Given the description of an element on the screen output the (x, y) to click on. 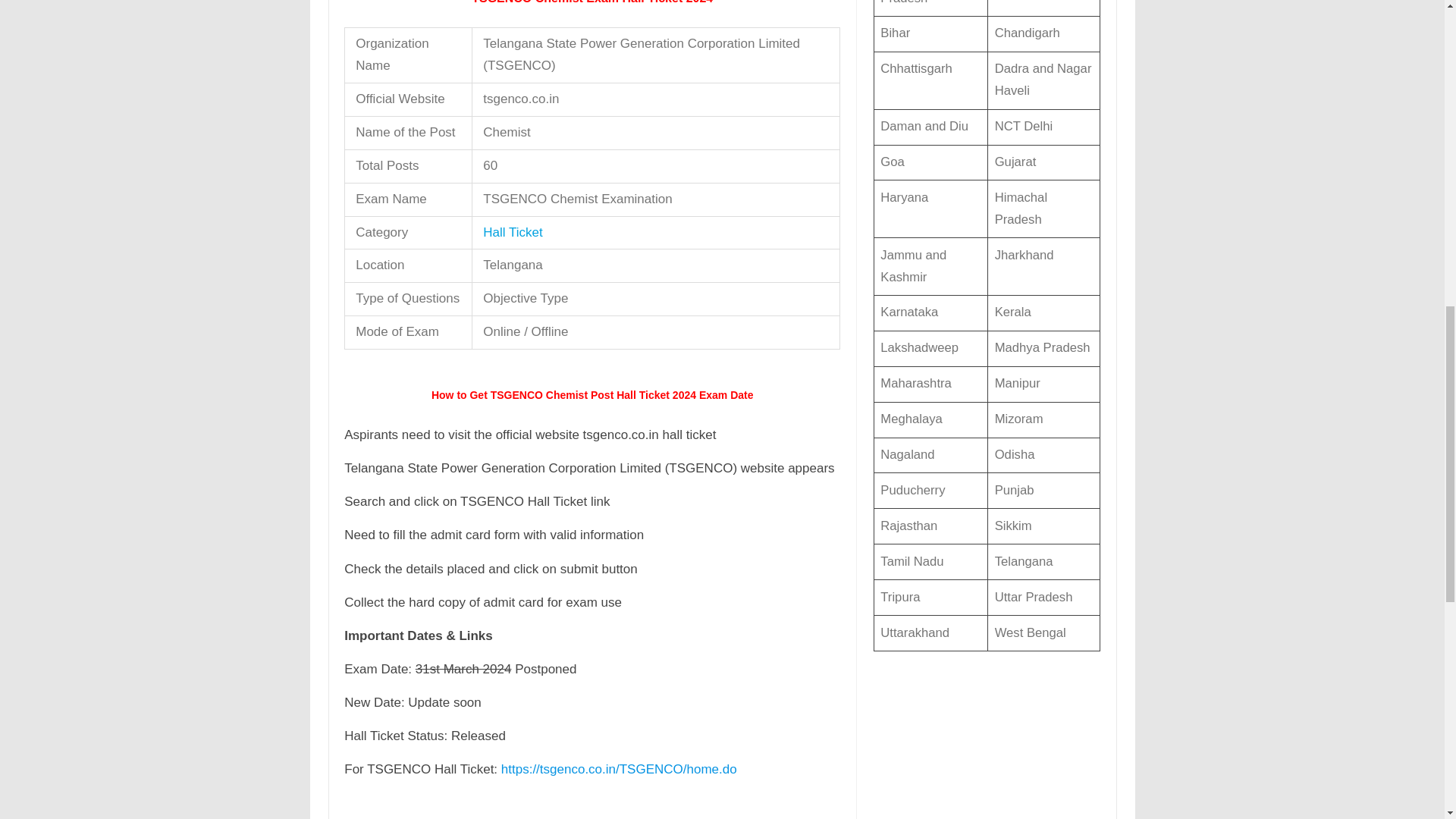
Hall Ticket (512, 232)
